Given the description of an element on the screen output the (x, y) to click on. 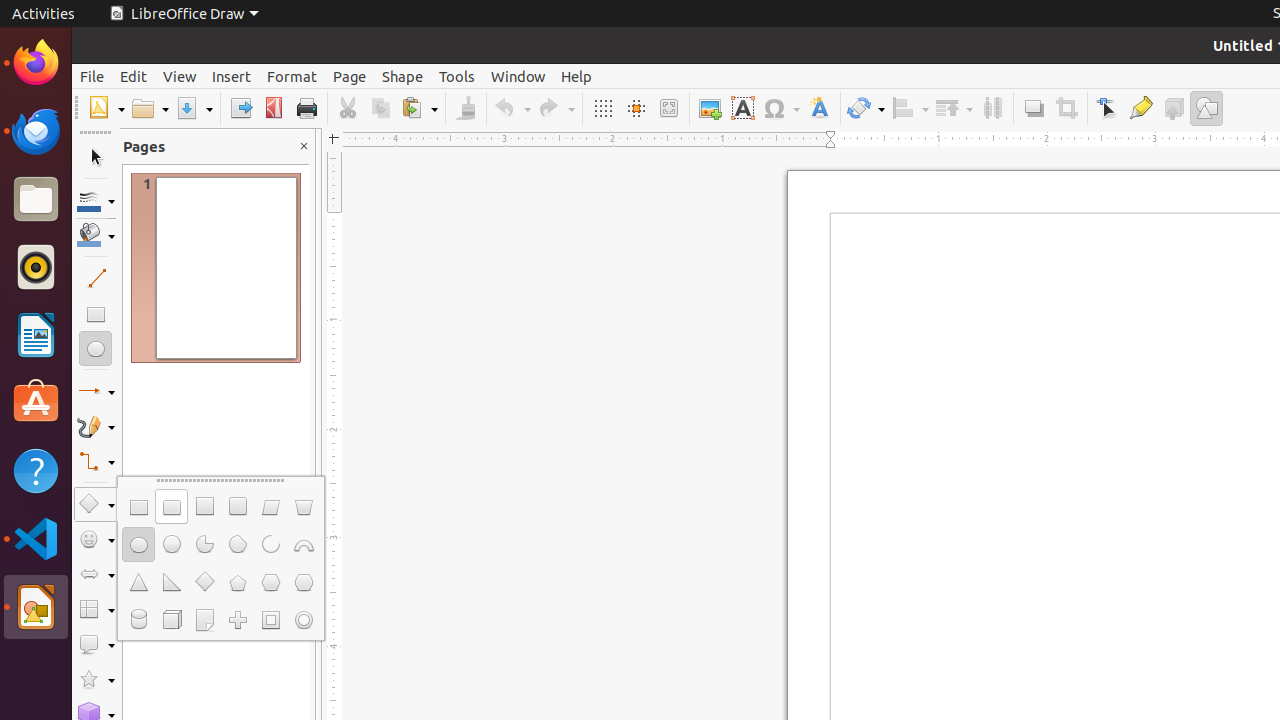
Cut Element type: push-button (347, 108)
New Element type: push-button (106, 108)
Visual Studio Code Element type: push-button (36, 538)
Rhythmbox Element type: push-button (36, 267)
Glue Points Element type: push-button (1140, 108)
